Given the description of an element on the screen output the (x, y) to click on. 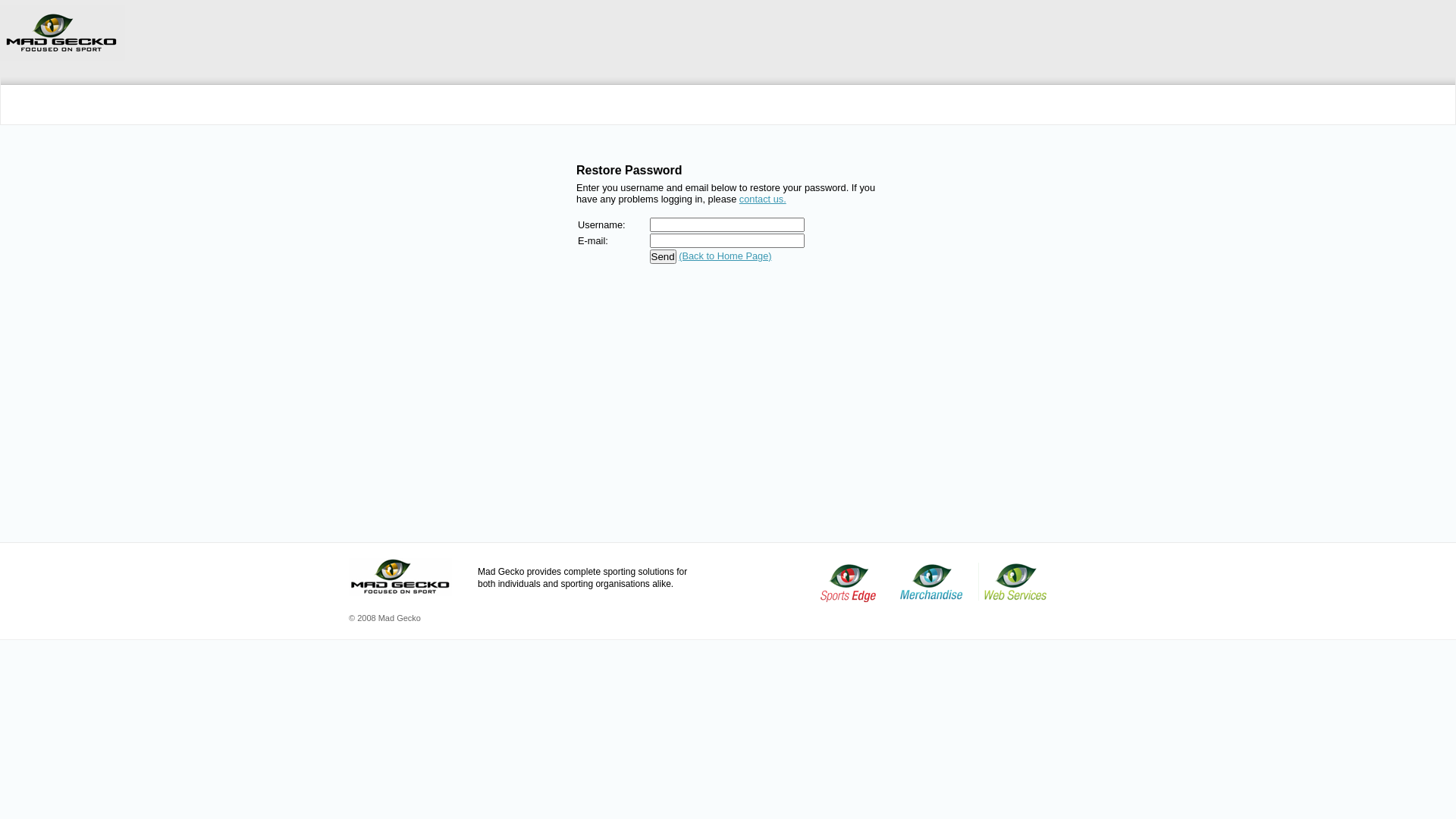
contact us. Element type: text (762, 198)
Send Element type: text (662, 256)
(Back to Home Page) Element type: text (724, 255)
